Given the description of an element on the screen output the (x, y) to click on. 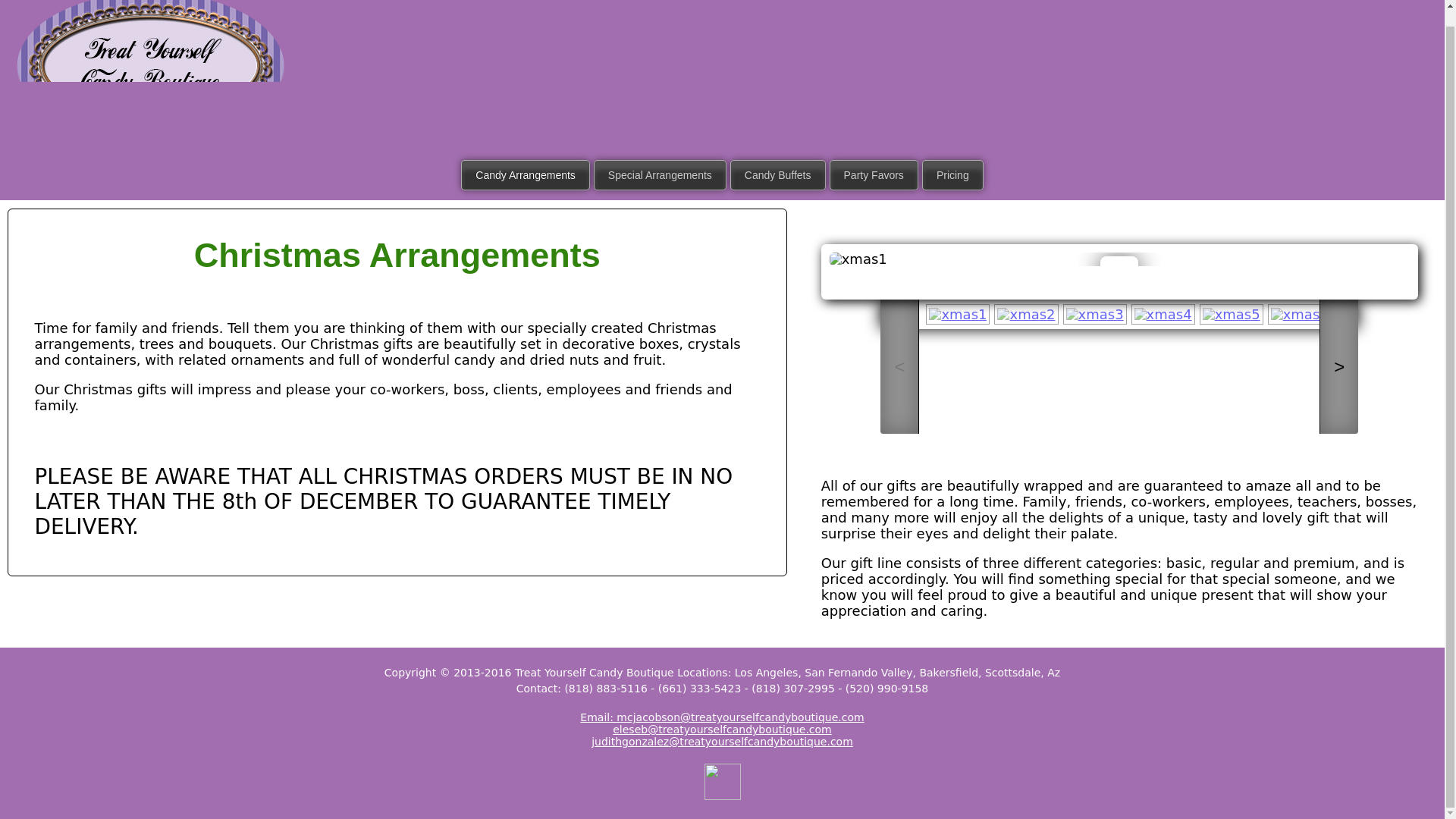
Candy Arrangements (525, 174)
Last (1149, 281)
xmas3 (1094, 313)
Play (1119, 281)
xmas4 (1163, 313)
xmas6 (1300, 313)
xmas1 (1119, 259)
Next (1133, 281)
Pricing (952, 174)
First (1088, 281)
xmas2 (1026, 313)
xmas5 (1231, 313)
Candy Buffets (777, 174)
Party Favors (873, 174)
xmas1 (958, 313)
